Given the description of an element on the screen output the (x, y) to click on. 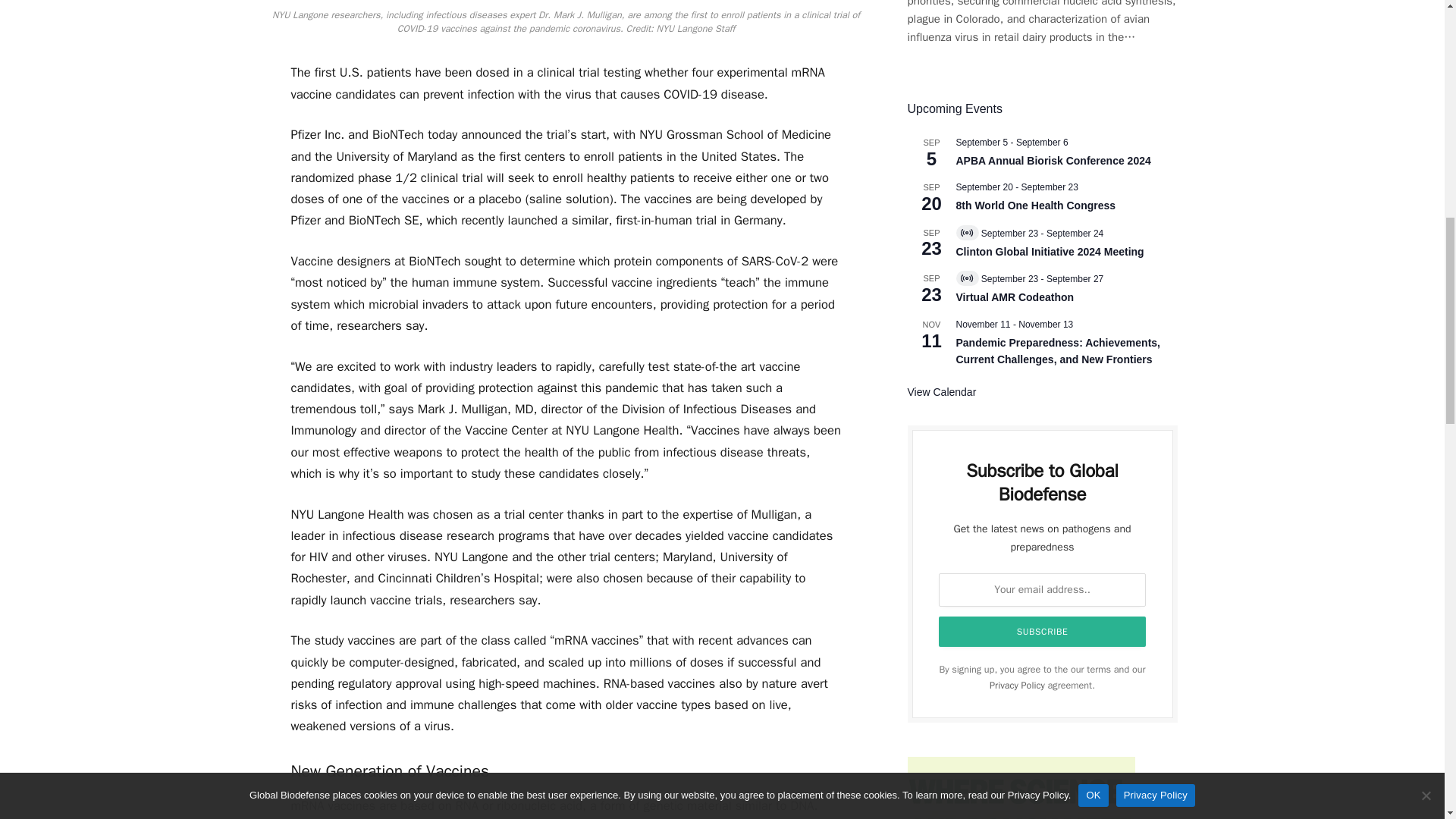
Virtual Event (966, 232)
Virtual Event (966, 277)
Subscribe (1043, 631)
